Given the description of an element on the screen output the (x, y) to click on. 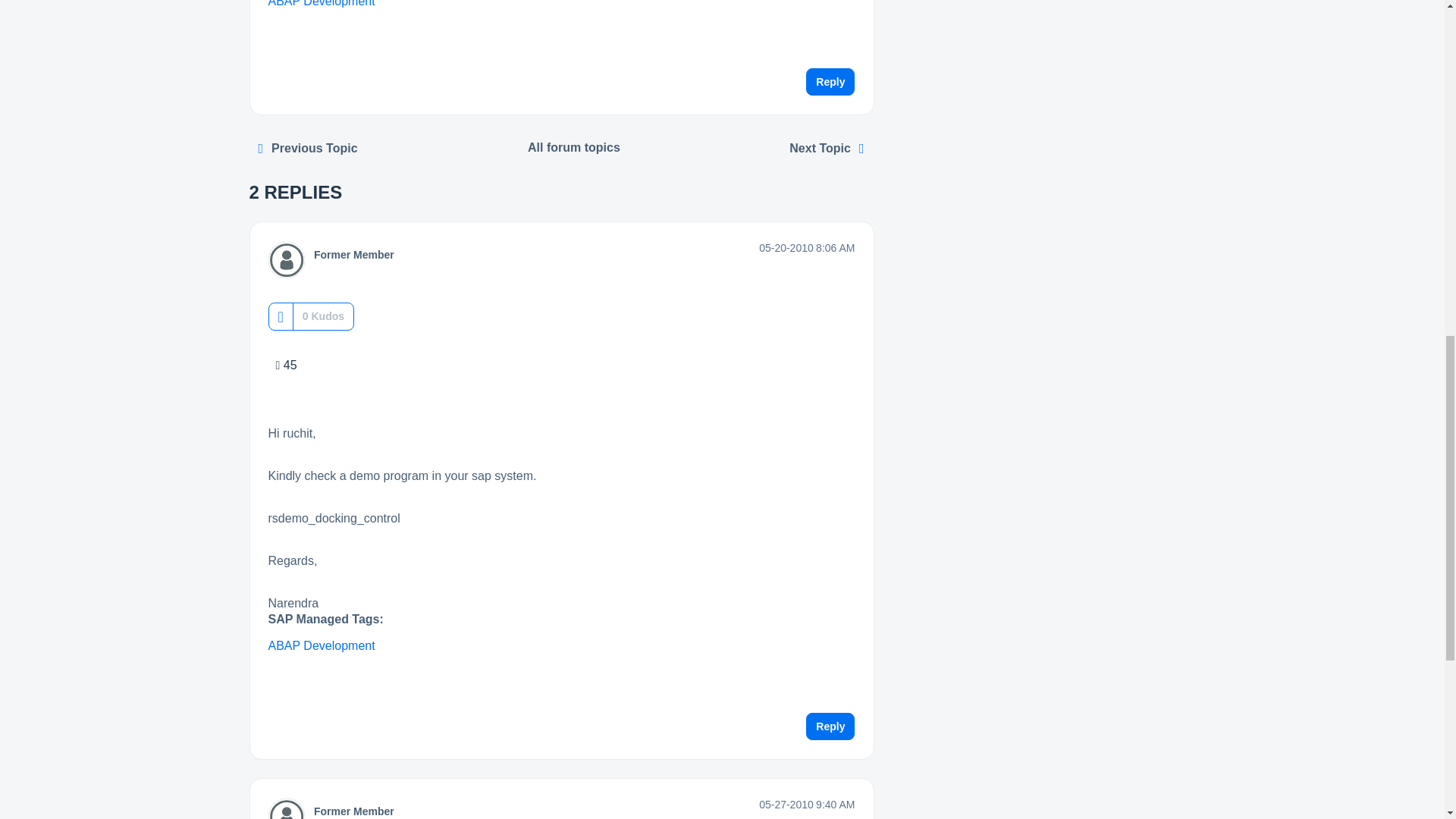
ABAP Development (321, 645)
Previous Topic (308, 148)
SAP  System Table (825, 148)
Next Topic (825, 148)
Reply (830, 726)
Script Problem (308, 148)
ABAP Development (321, 3)
All forum topics (574, 147)
Application Development Discussions (574, 147)
Reply (830, 81)
